Given the description of an element on the screen output the (x, y) to click on. 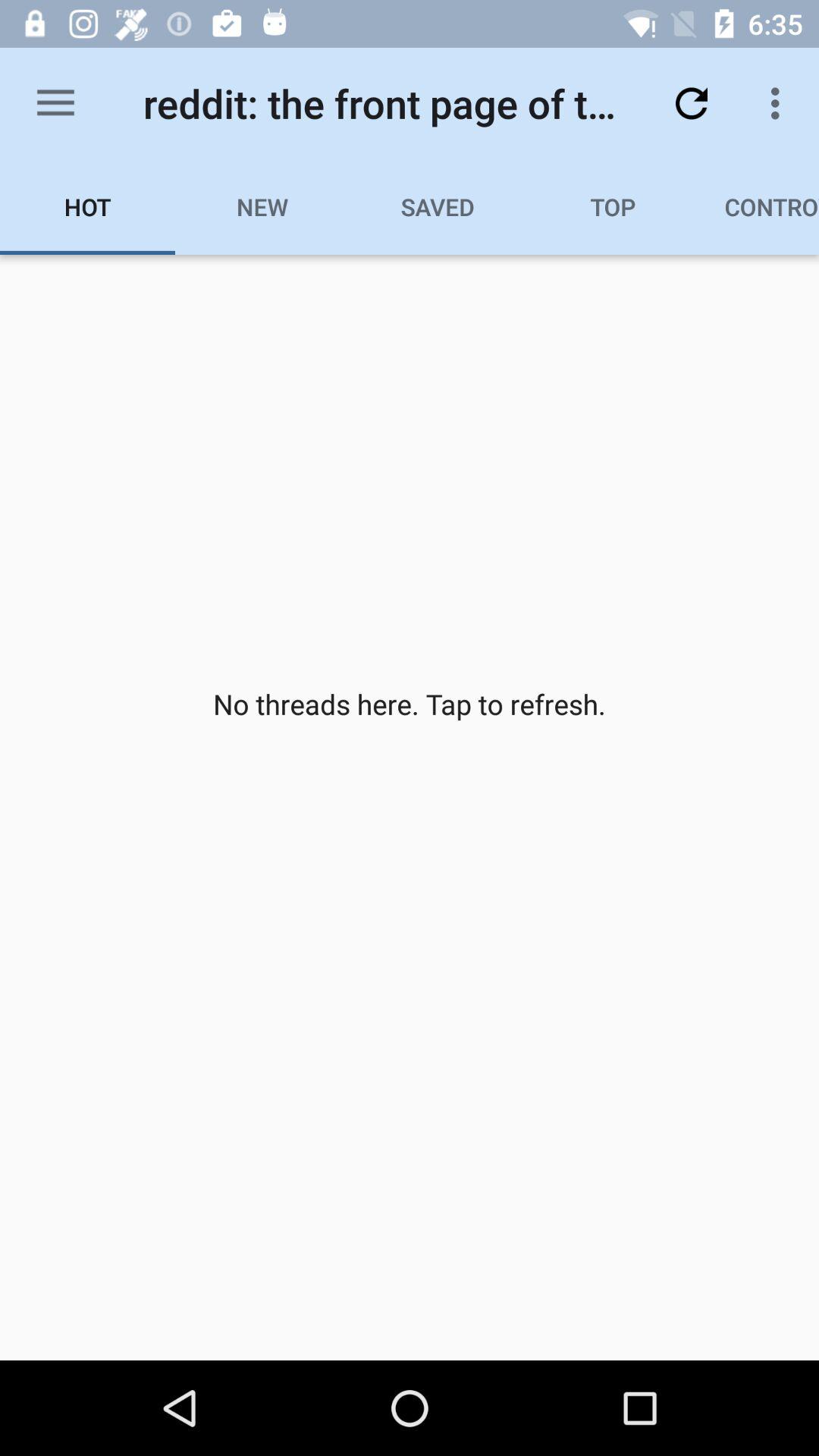
turn on the icon to the right of reddit the front item (691, 103)
